Given the description of an element on the screen output the (x, y) to click on. 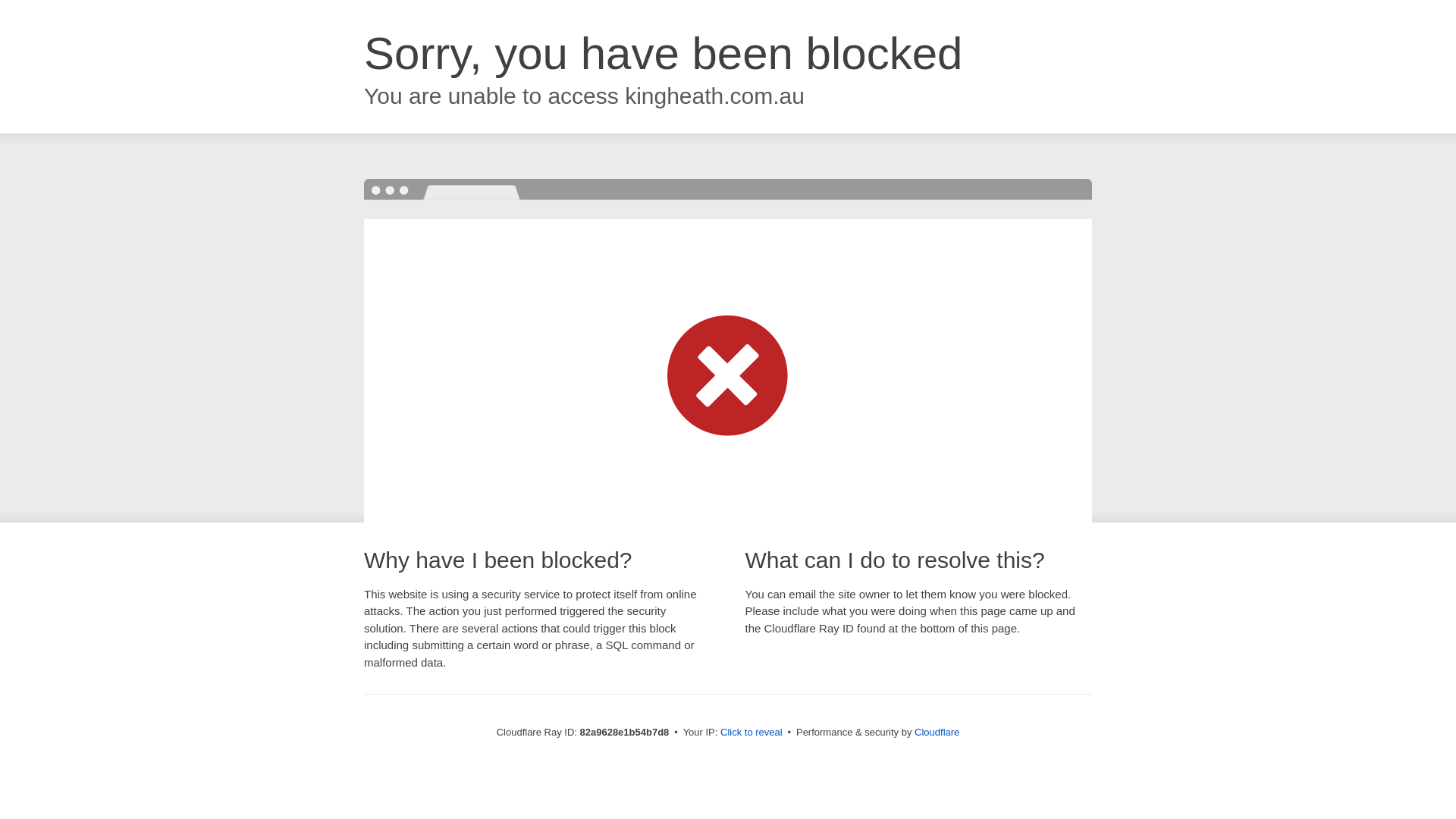
Cloudflare Element type: text (936, 731)
Click to reveal Element type: text (751, 732)
